Given the description of an element on the screen output the (x, y) to click on. 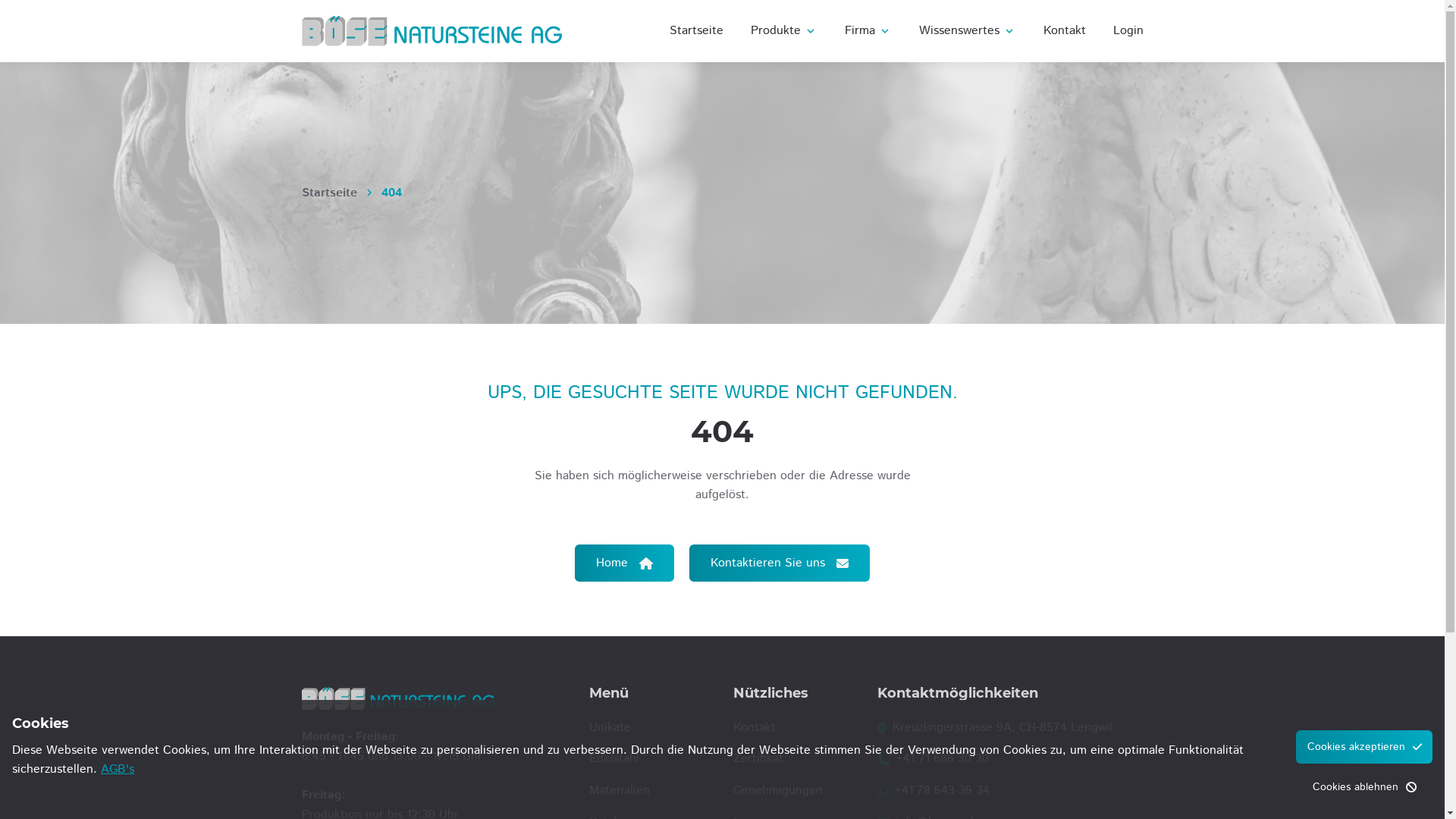
+41 71 686 30 30 Element type: text (941, 758)
Startseite Element type: text (329, 192)
Genehmigungen Element type: text (793, 790)
Produkte
expand_more Element type: text (784, 30)
Login Element type: text (1124, 30)
Kontakt Element type: text (1064, 30)
Wissenswertes
expand_more Element type: text (967, 30)
Home Element type: text (624, 563)
Firma
expand_more Element type: text (868, 30)
404 Element type: text (390, 192)
Edelstahl Element type: text (649, 758)
Zertifikat Element type: text (793, 758)
Kontaktieren Sie uns Element type: text (779, 563)
Kontakt Element type: text (793, 727)
+41 78 643 39 34 Element type: text (941, 790)
Unikate Element type: text (649, 727)
Materialien Element type: text (649, 790)
Kreuzlingerstrasse 9A, CH-8574 Lengwil Element type: text (1002, 727)
AGB's Element type: text (117, 769)
Startseite Element type: text (695, 30)
